Given the description of an element on the screen output the (x, y) to click on. 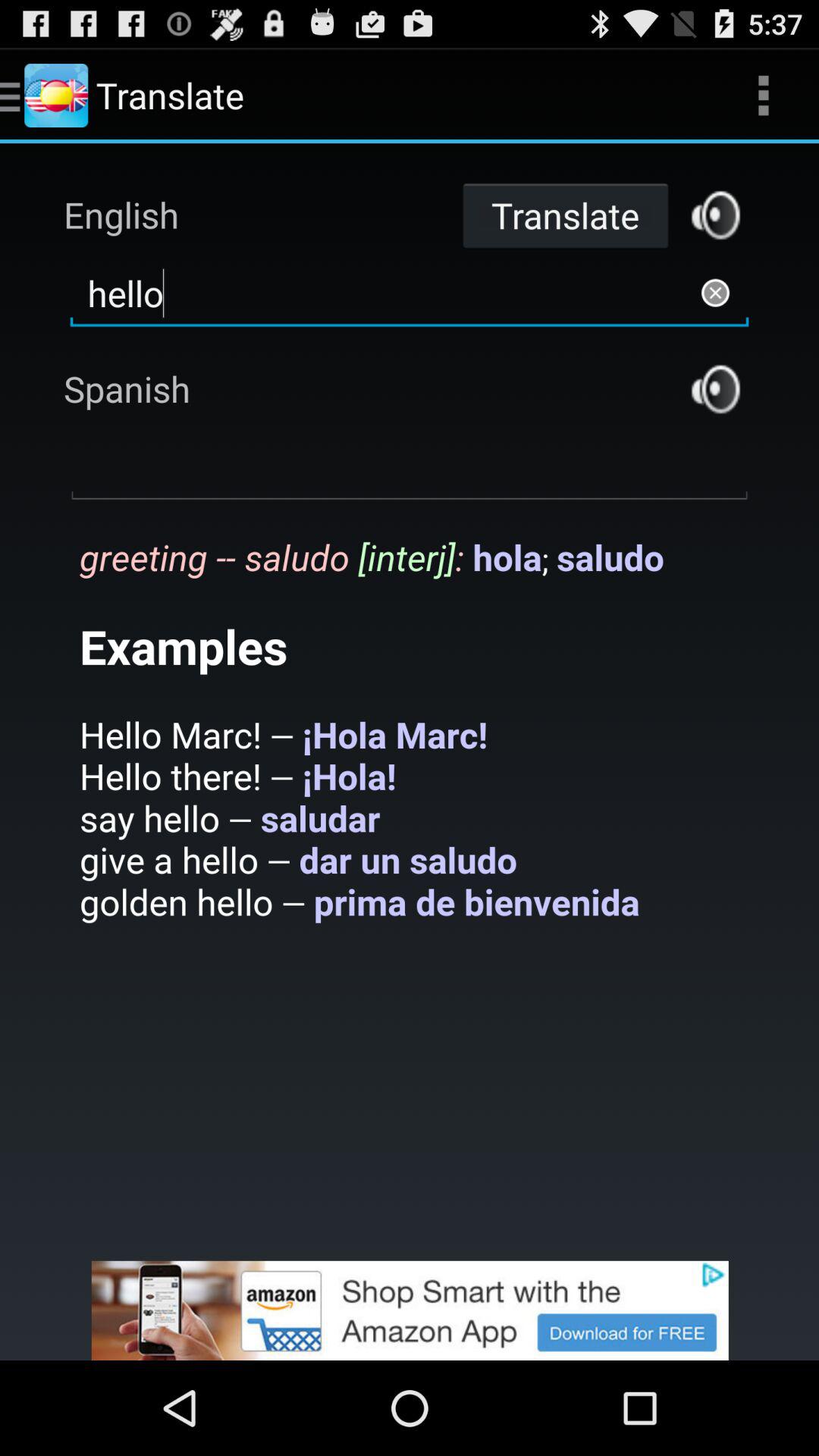
switch to spanish (715, 388)
